Given the description of an element on the screen output the (x, y) to click on. 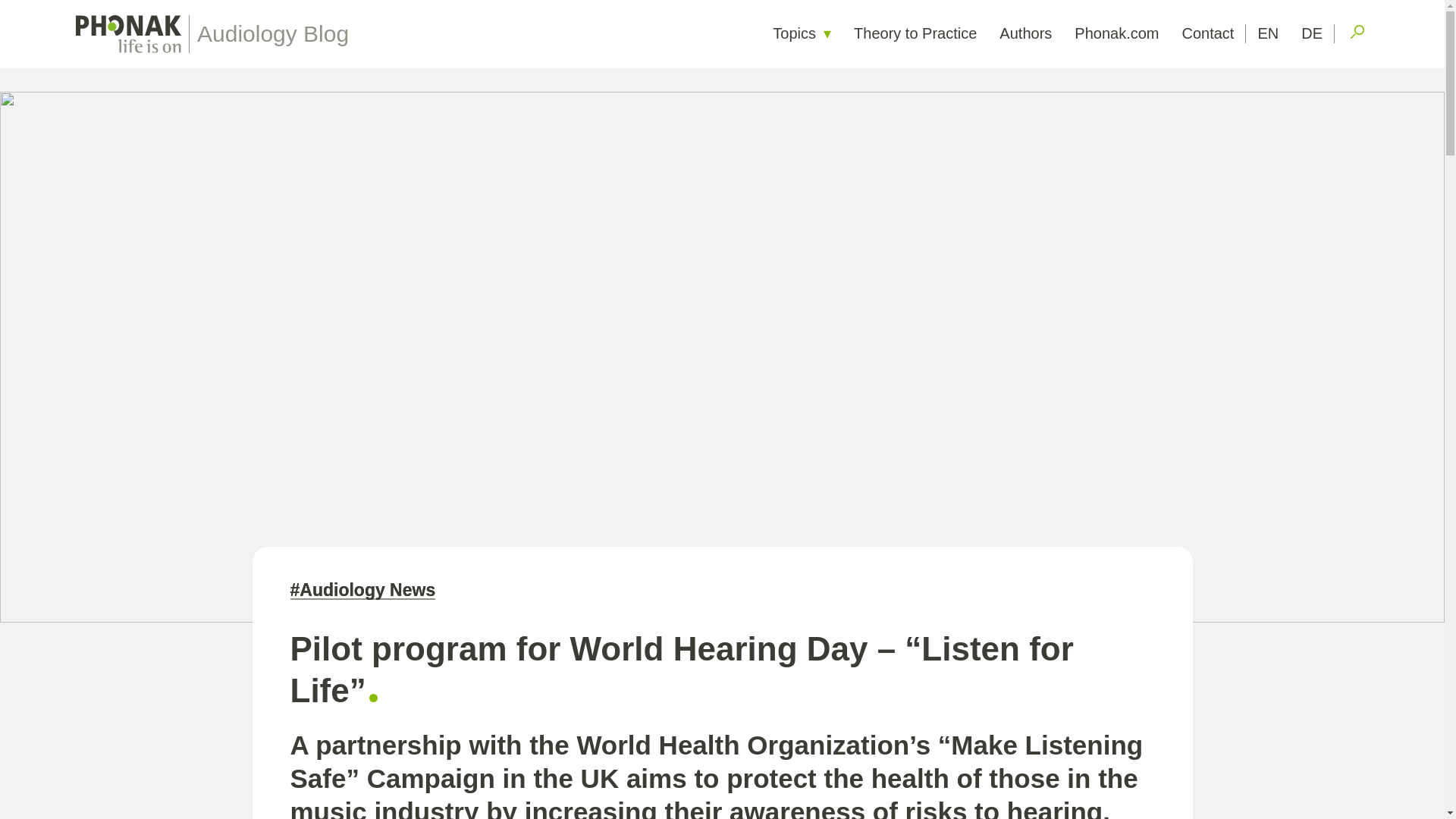
Theory to Practice (914, 33)
Authors (1024, 33)
Phonak.com (1116, 33)
Contact (1206, 33)
Cookie Settings (66, 12)
Topics (802, 33)
DE (1311, 33)
